Given the description of an element on the screen output the (x, y) to click on. 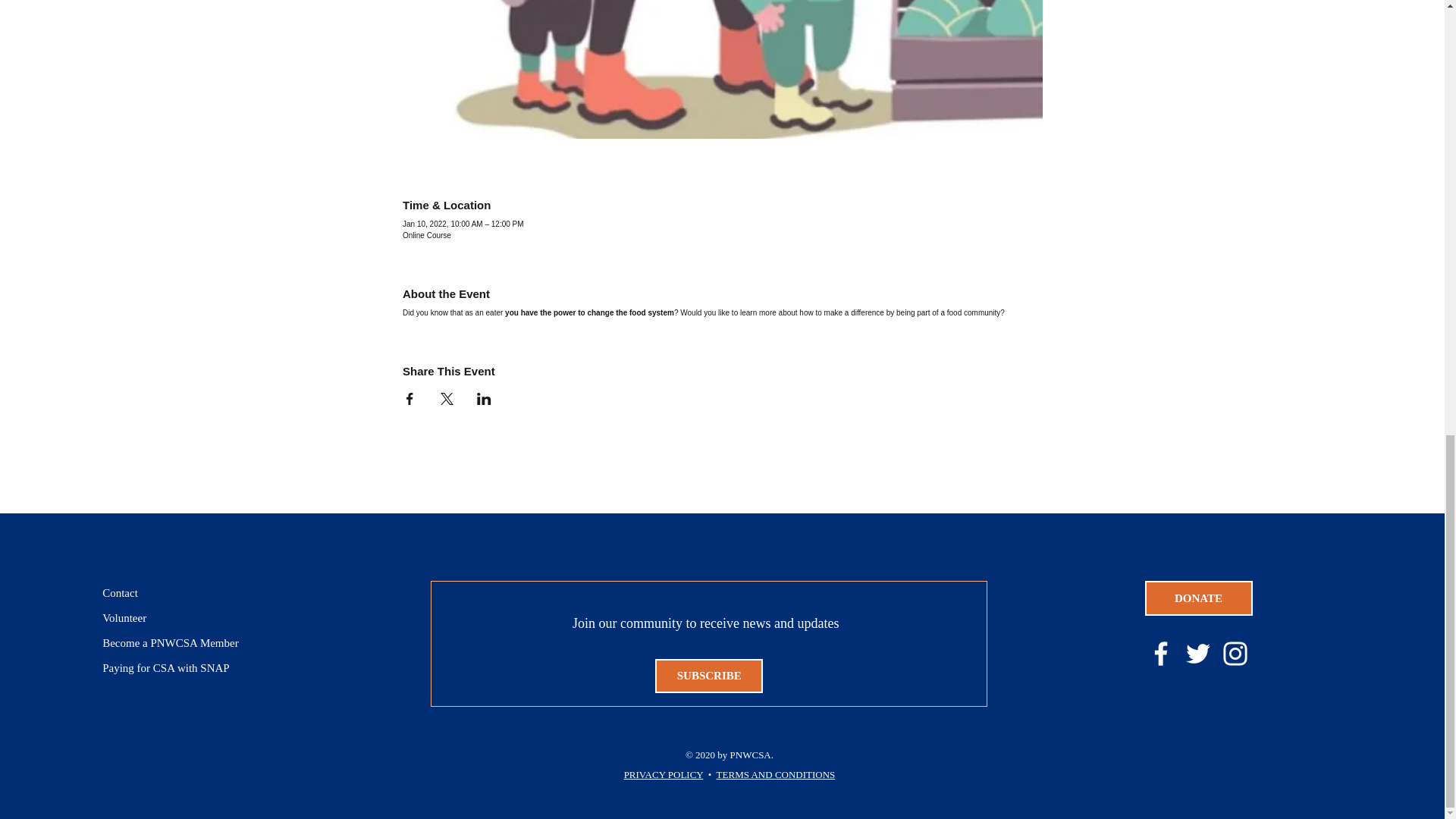
PRIVACY POLICY (663, 774)
Volunteer (180, 618)
DONATE (1198, 597)
SUBSCRIBE (708, 675)
Become a PNWCSA Member (180, 643)
Paying for CSA with SNAP (180, 668)
Contact (180, 593)
TERMS AND CONDITIONS (775, 774)
